Given the description of an element on the screen output the (x, y) to click on. 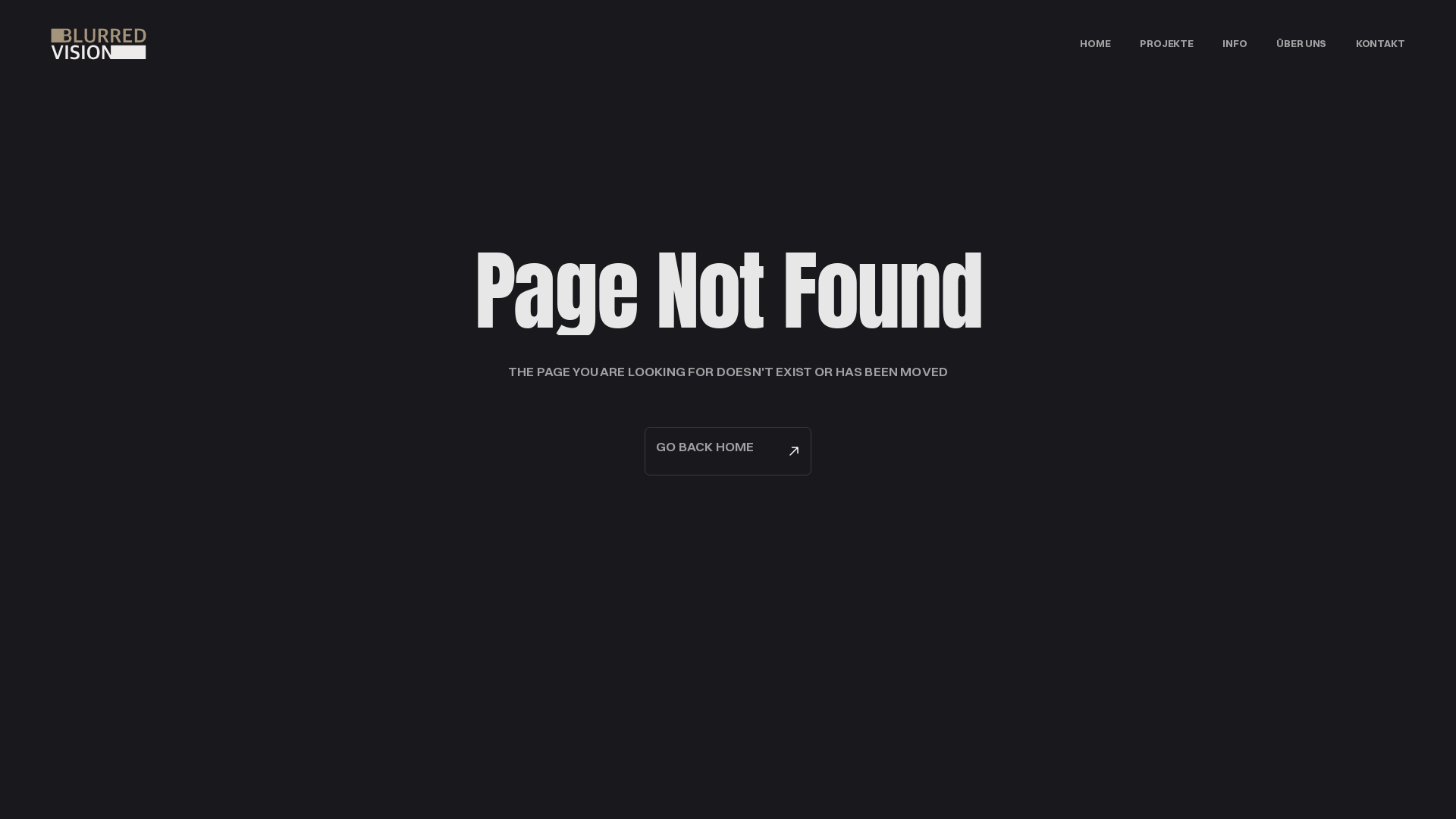
KONTAKT Element type: text (1380, 43)
PROJEKTE Element type: text (1166, 43)
GO BACK HOME Element type: text (727, 450)
HOME Element type: text (1094, 43)
INFO Element type: text (1234, 43)
